Given the description of an element on the screen output the (x, y) to click on. 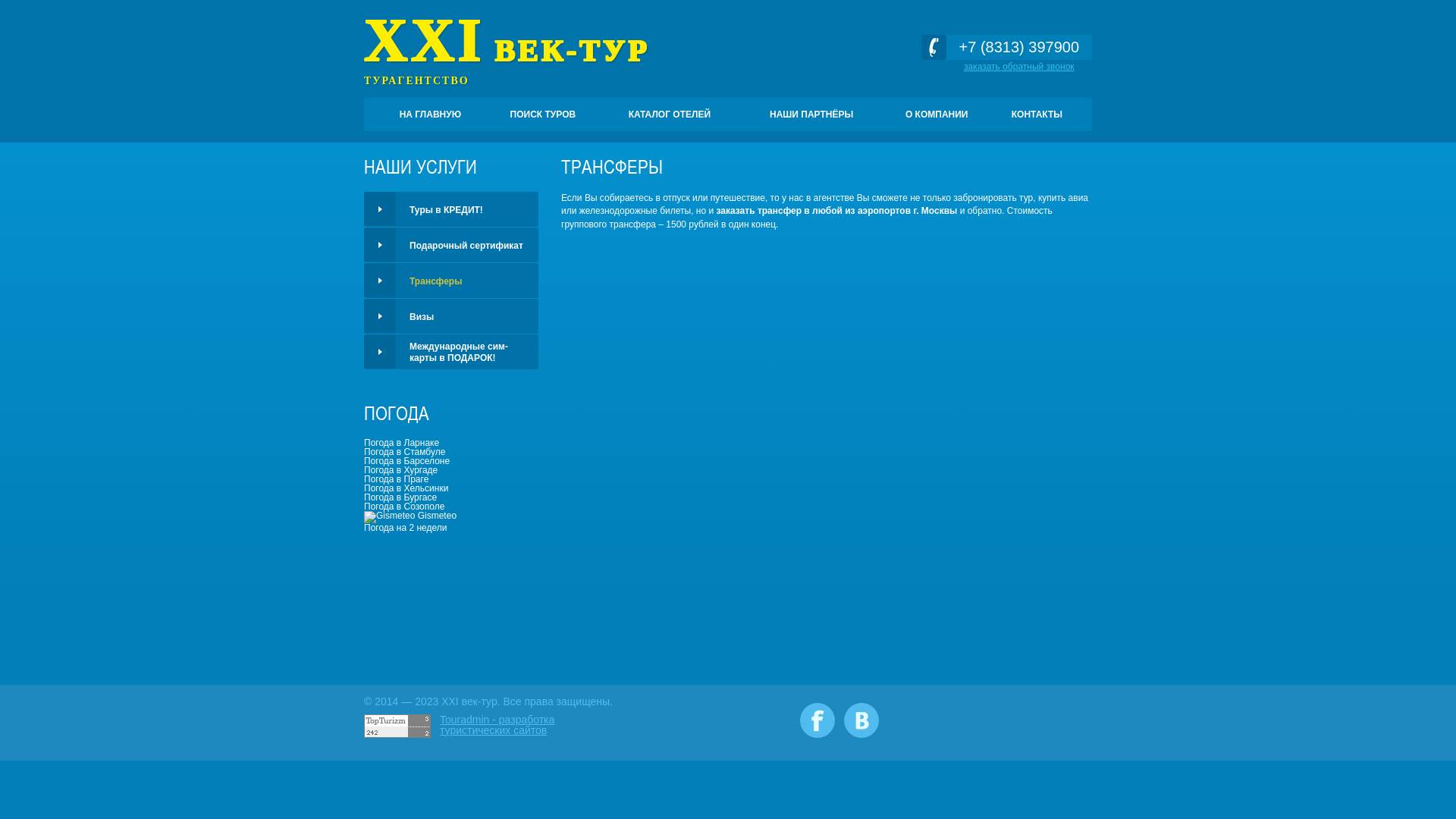
Gismeteo Element type: hover (389, 517)
Gismeteo Element type: text (410, 515)
